Given the description of an element on the screen output the (x, y) to click on. 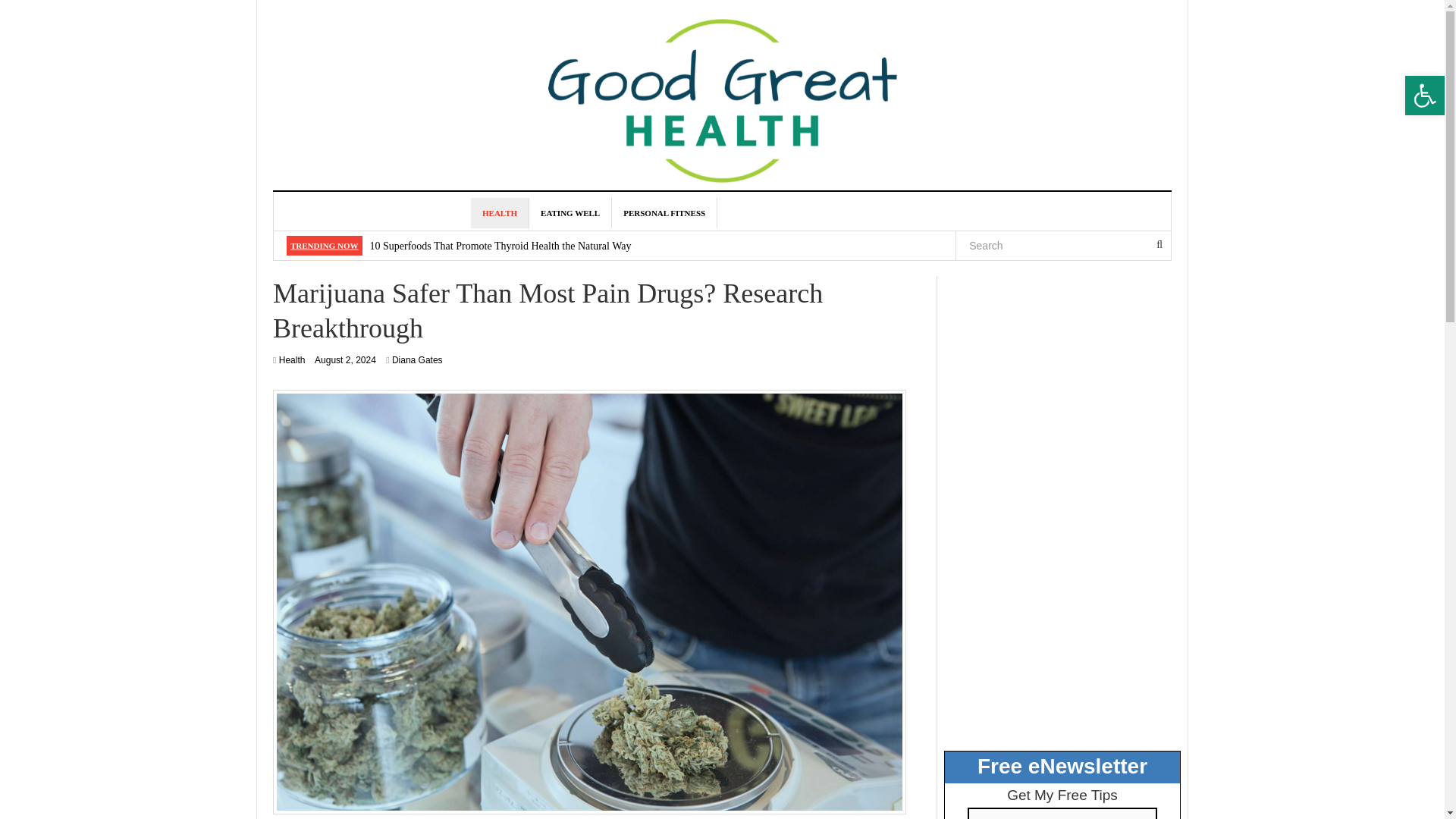
HEALTH (499, 213)
10 Superfoods That Promote Thyroid Health the Natural Way (500, 245)
PERSONAL FITNESS (664, 213)
Accessibility Tools (1424, 95)
Health (292, 359)
Good Great Health (721, 91)
August 2, 2024 (344, 359)
EATING WELL (570, 213)
Diana Gates (416, 359)
